Given the description of an element on the screen output the (x, y) to click on. 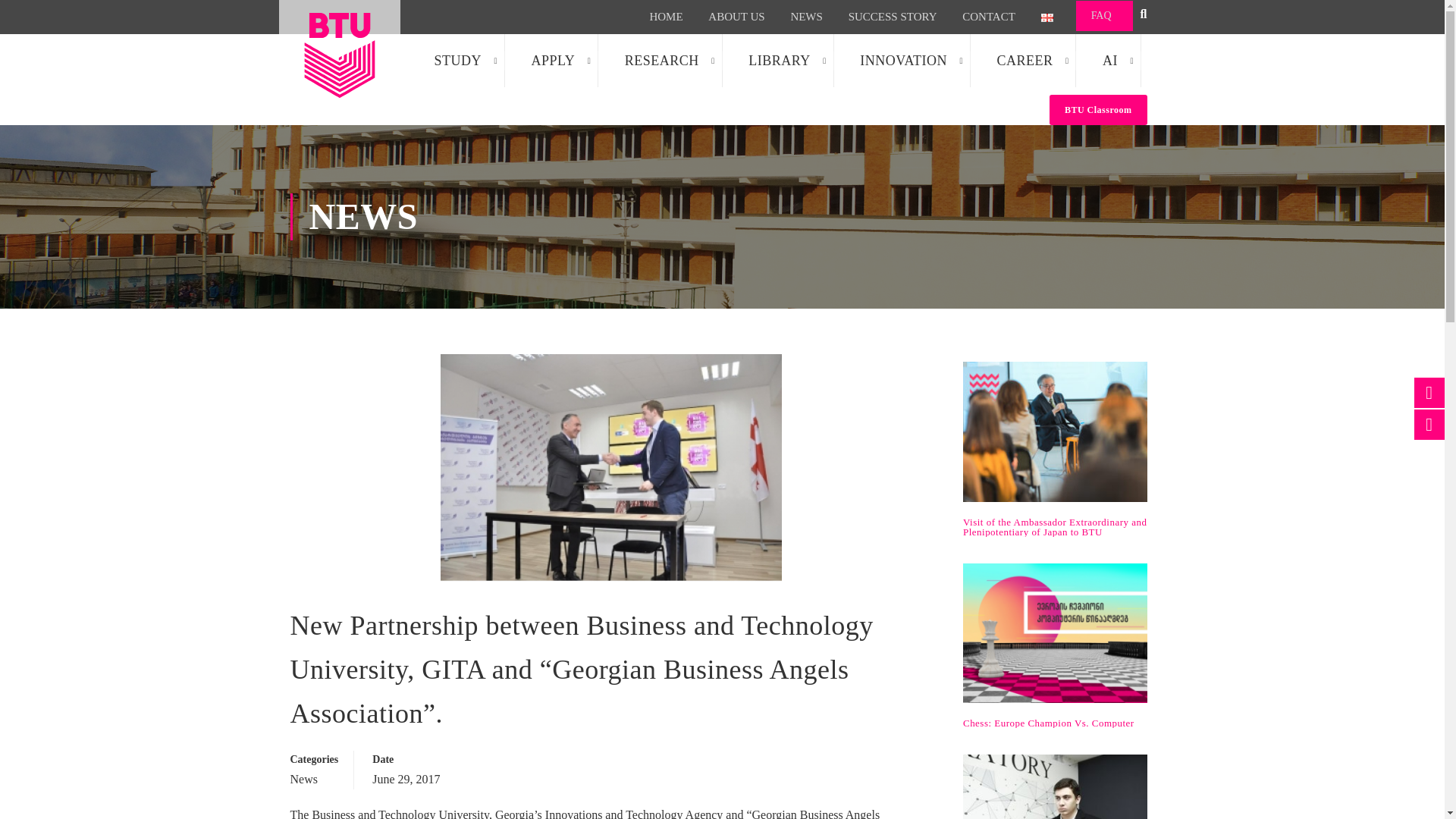
BTU - Business and Technology University (339, 55)
